Given the description of an element on the screen output the (x, y) to click on. 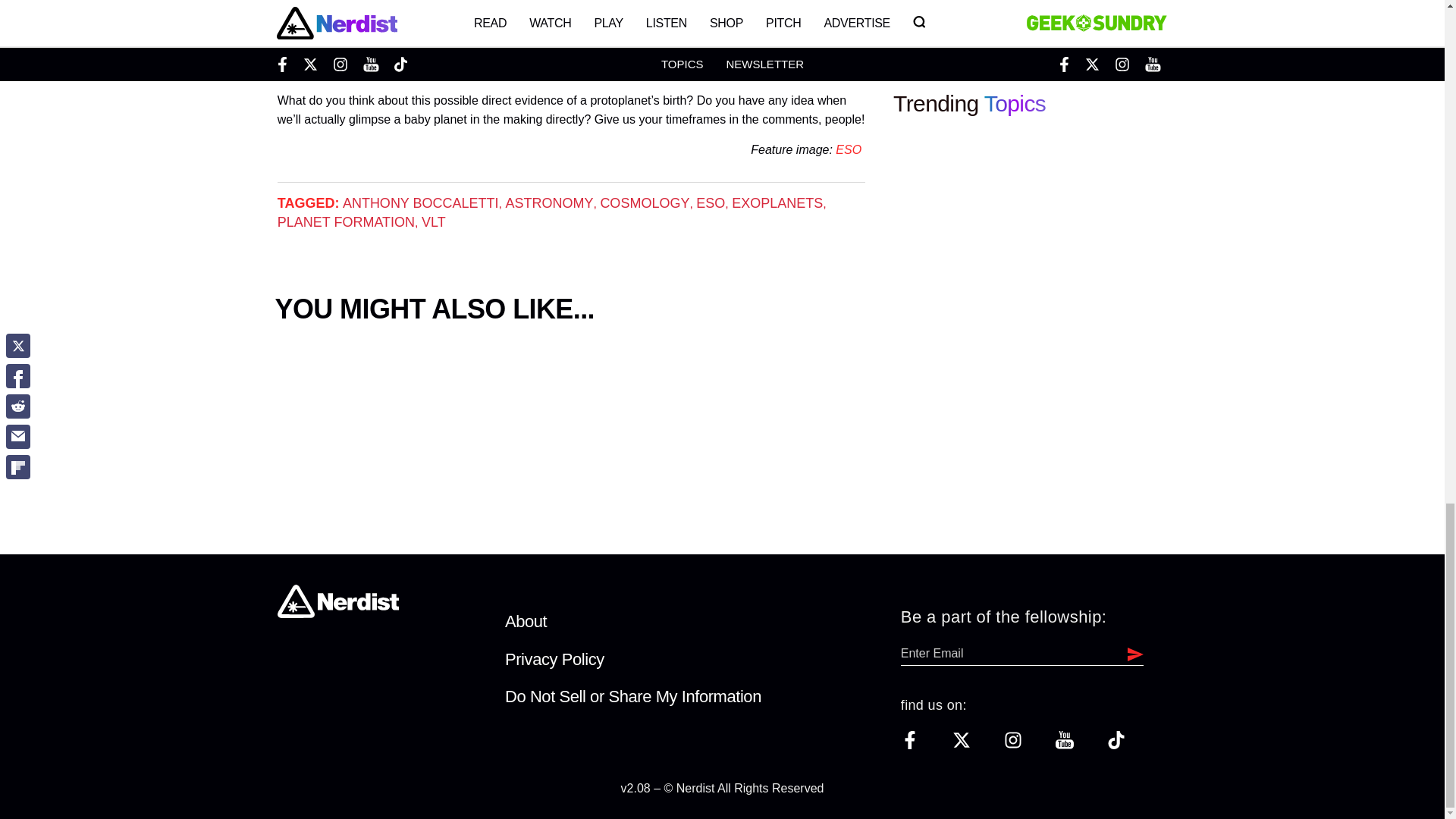
ASTRONOMY (548, 202)
Sign Up (1131, 653)
COSMOLOGY (643, 202)
ESO (710, 202)
detailed images of planets (553, 41)
ANTHONY BOCCALETTI (420, 202)
ESO (848, 149)
